Given the description of an element on the screen output the (x, y) to click on. 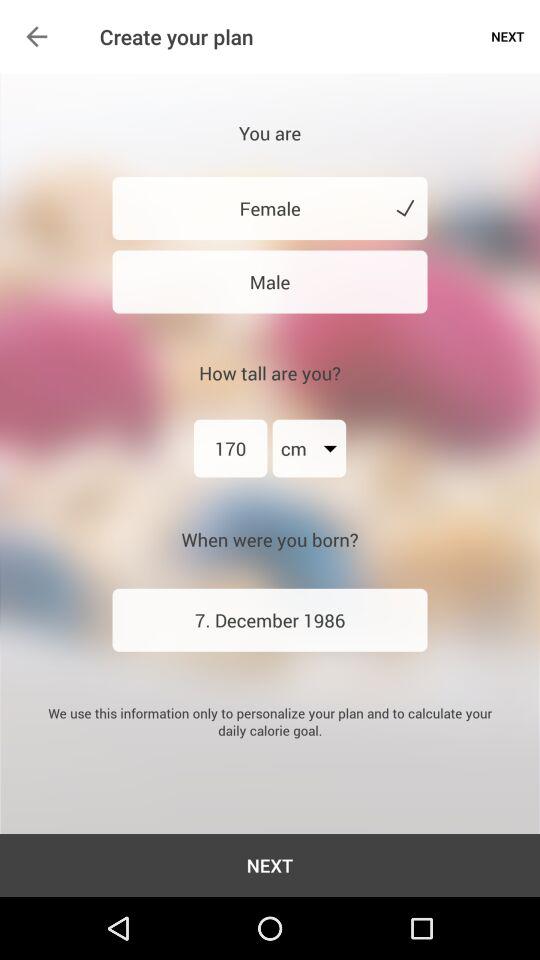
turn on icon below the when were you (269, 619)
